Given the description of an element on the screen output the (x, y) to click on. 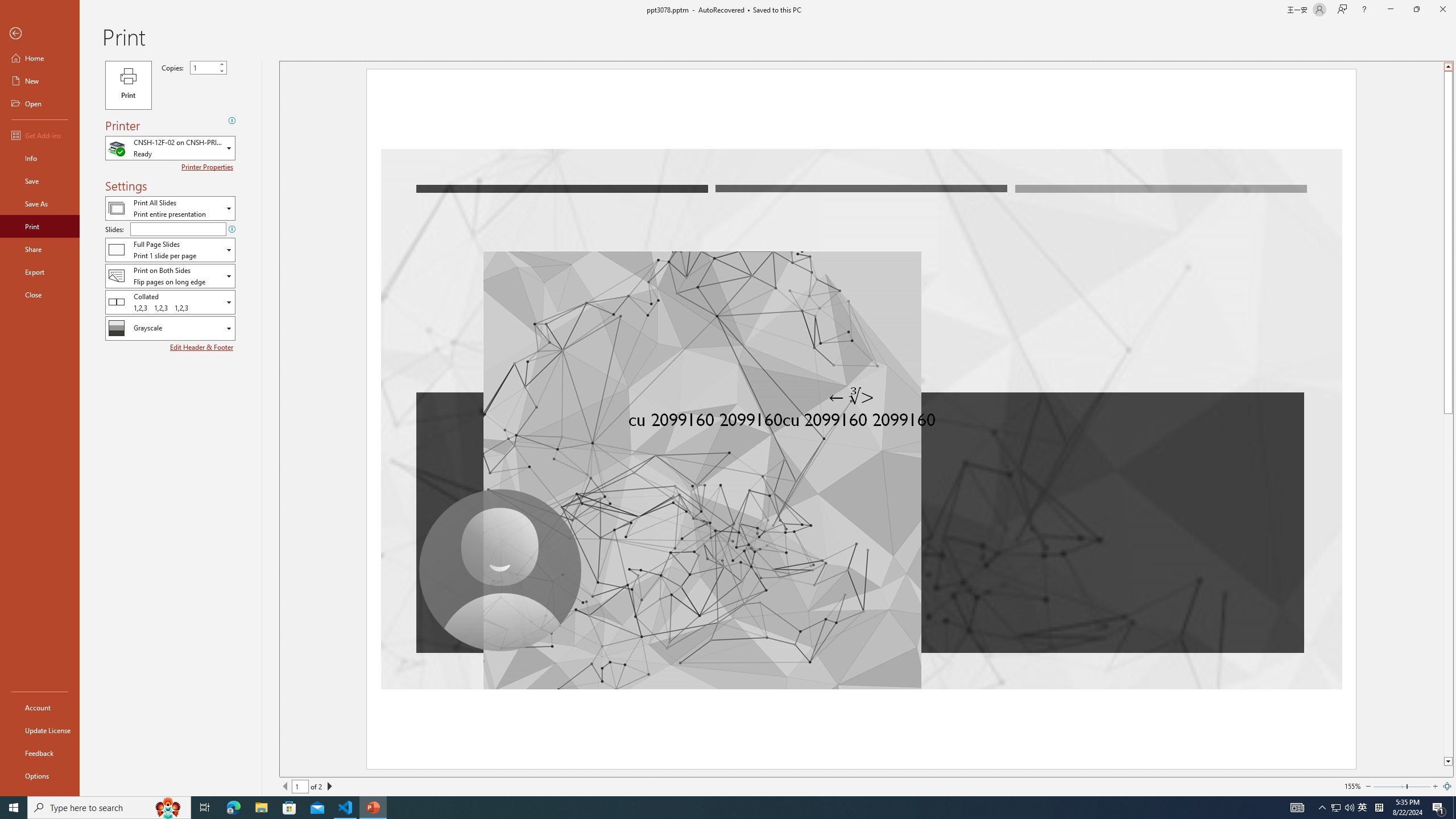
Page right (1418, 786)
Export (40, 271)
Next Page (328, 786)
Print What (169, 208)
Feedback (40, 753)
Edit Header & Footer (202, 347)
Two-Sided Printing (169, 275)
Print (40, 225)
Update License (40, 730)
Current Page (300, 786)
